Given the description of an element on the screen output the (x, y) to click on. 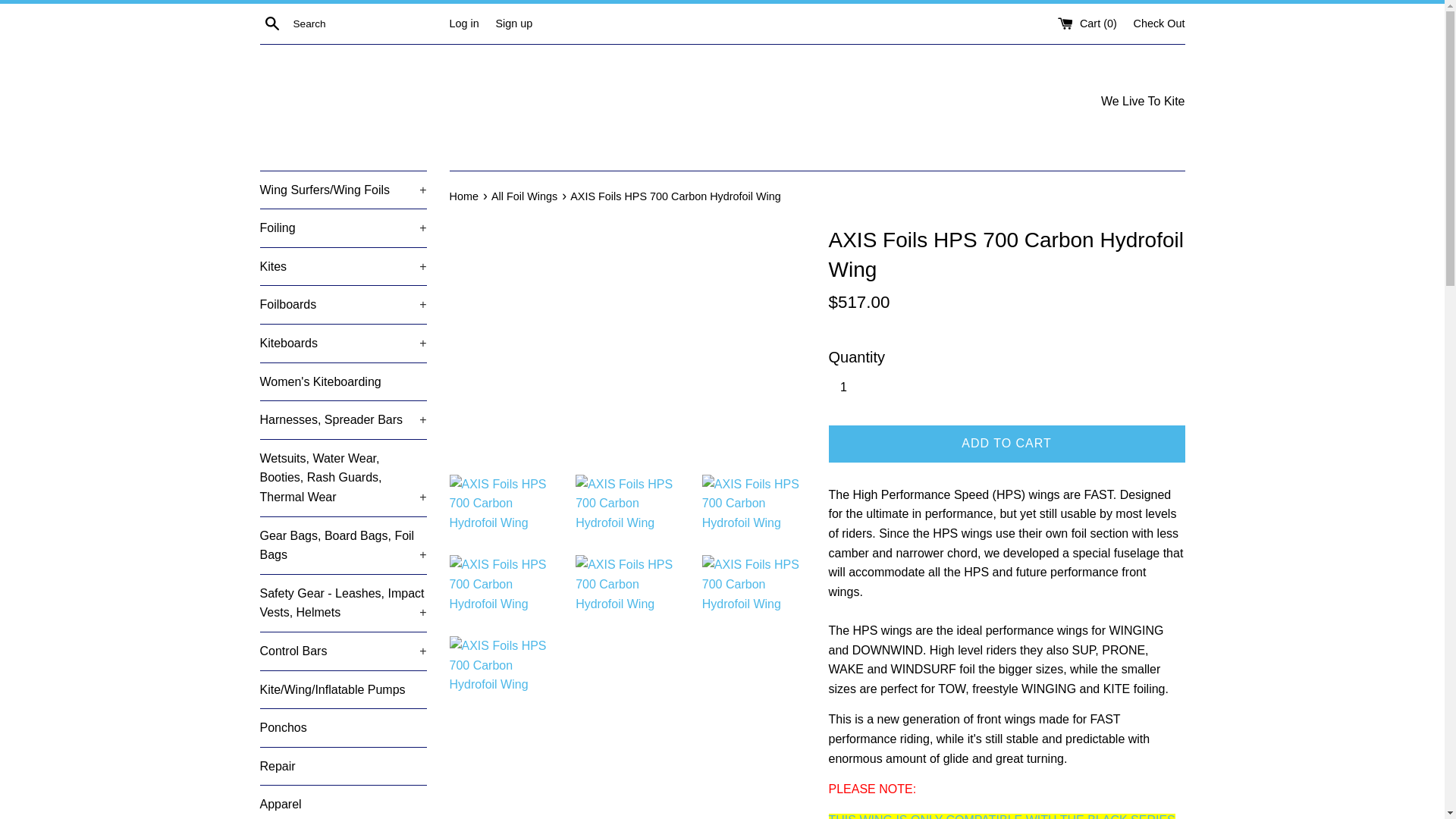
Check Out (1159, 22)
Search (271, 22)
1 (848, 387)
Log in (463, 22)
Back to the frontpage (464, 196)
Sign up (513, 22)
